Given the description of an element on the screen output the (x, y) to click on. 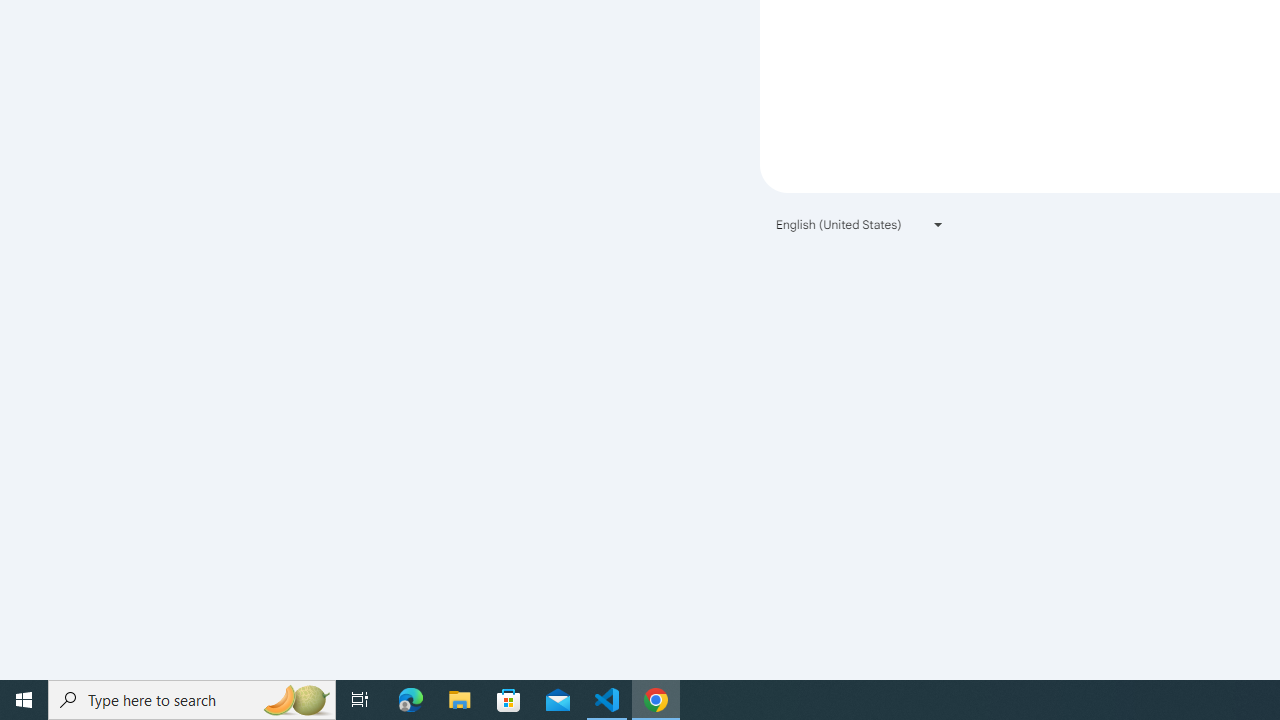
English (United States) (860, 224)
